Given the description of an element on the screen output the (x, y) to click on. 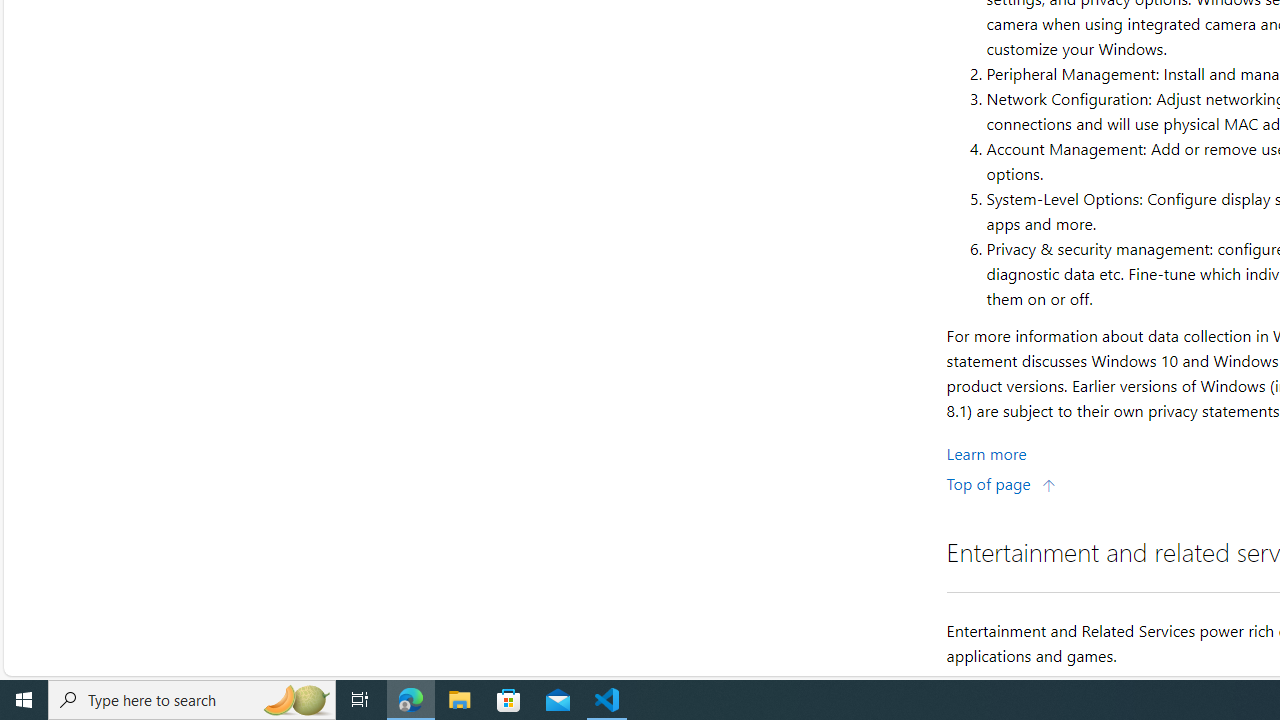
Learn More about Windows (985, 452)
Top of page (1001, 482)
